Given the description of an element on the screen output the (x, y) to click on. 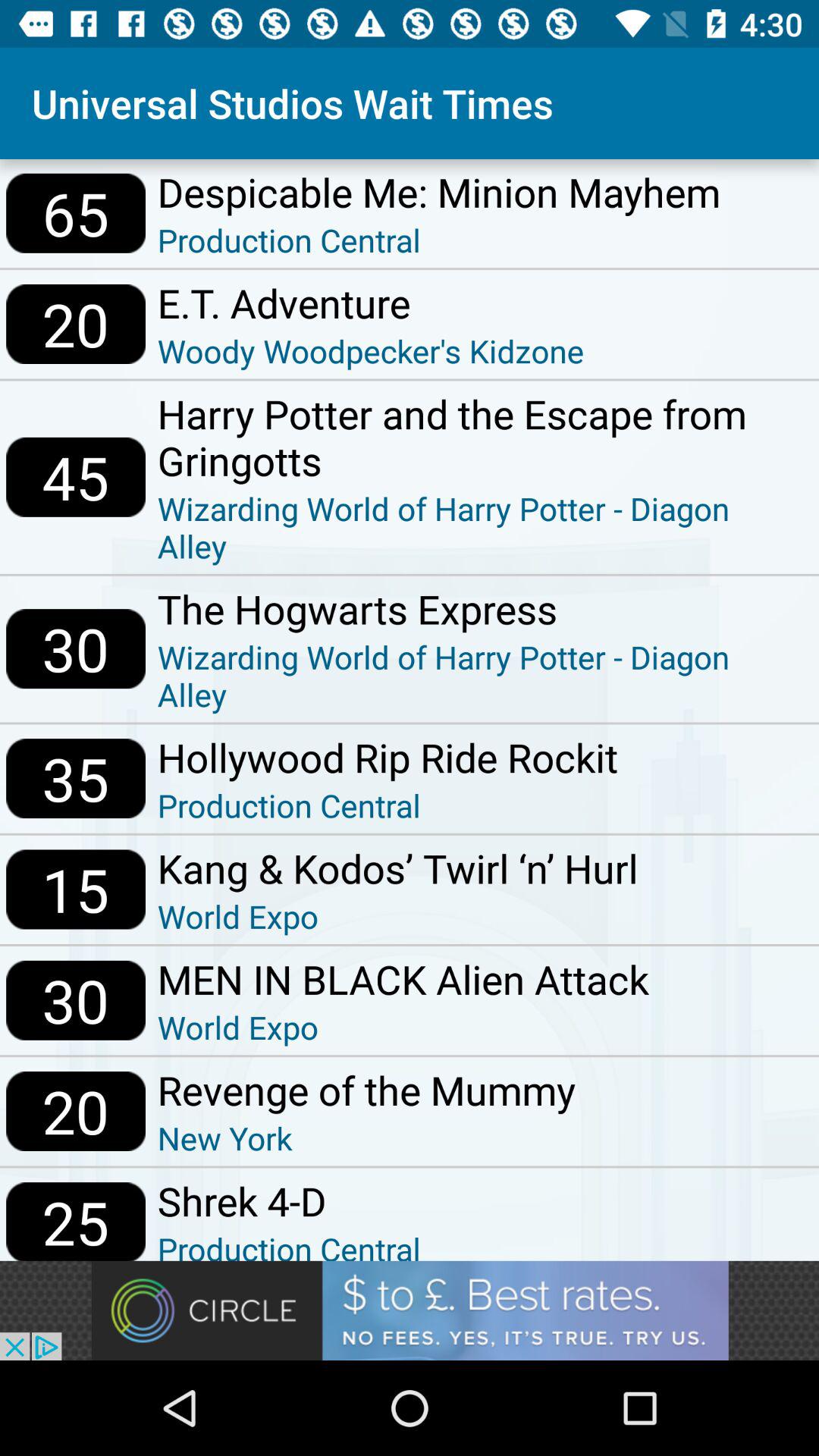
tap the item below production central item (397, 867)
